Given the description of an element on the screen output the (x, y) to click on. 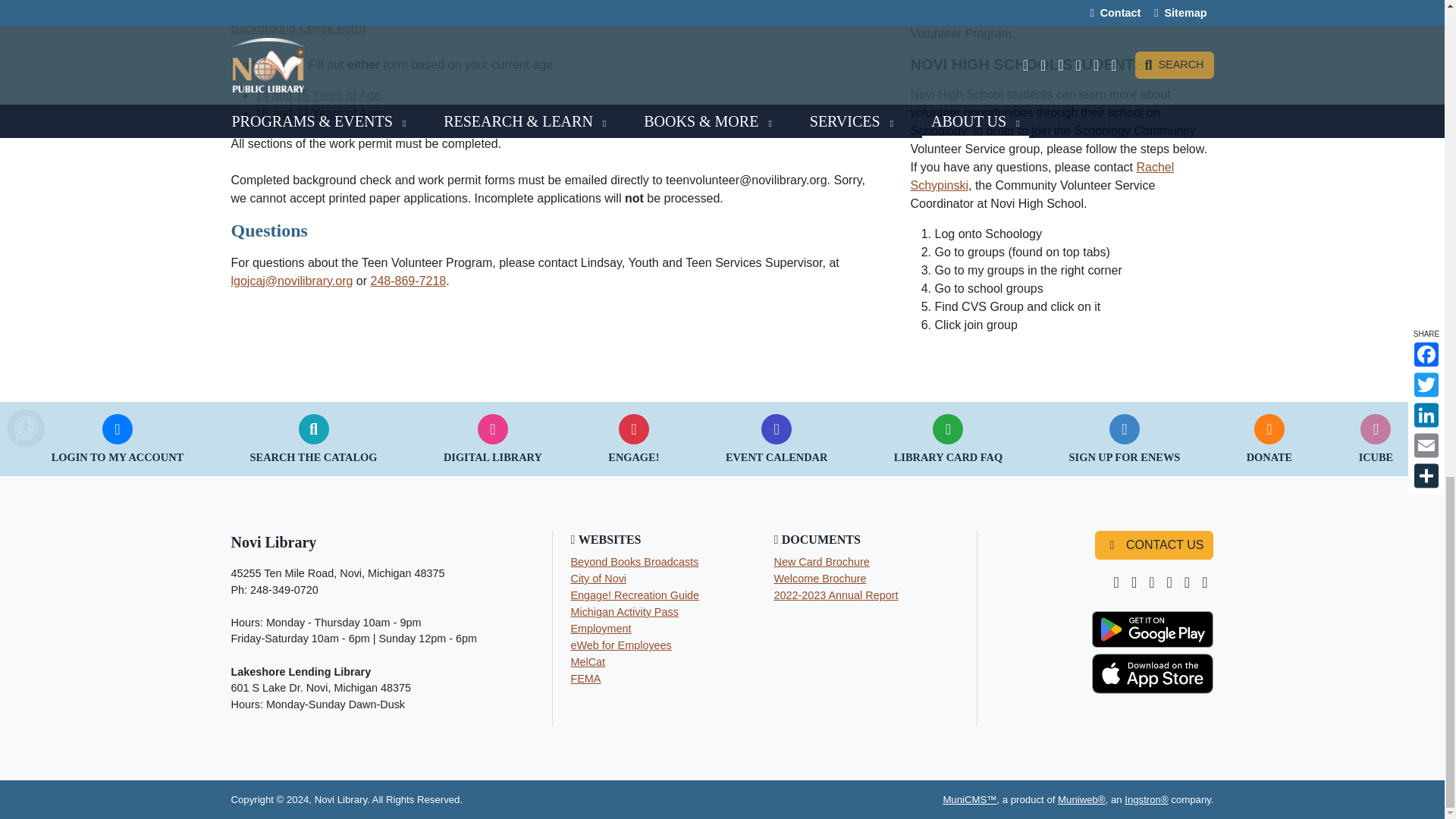
Work Permit 16 And 17 Years Of Age (317, 113)
Work Permit 14 And 15 Years Of Age (317, 94)
